Given the description of an element on the screen output the (x, y) to click on. 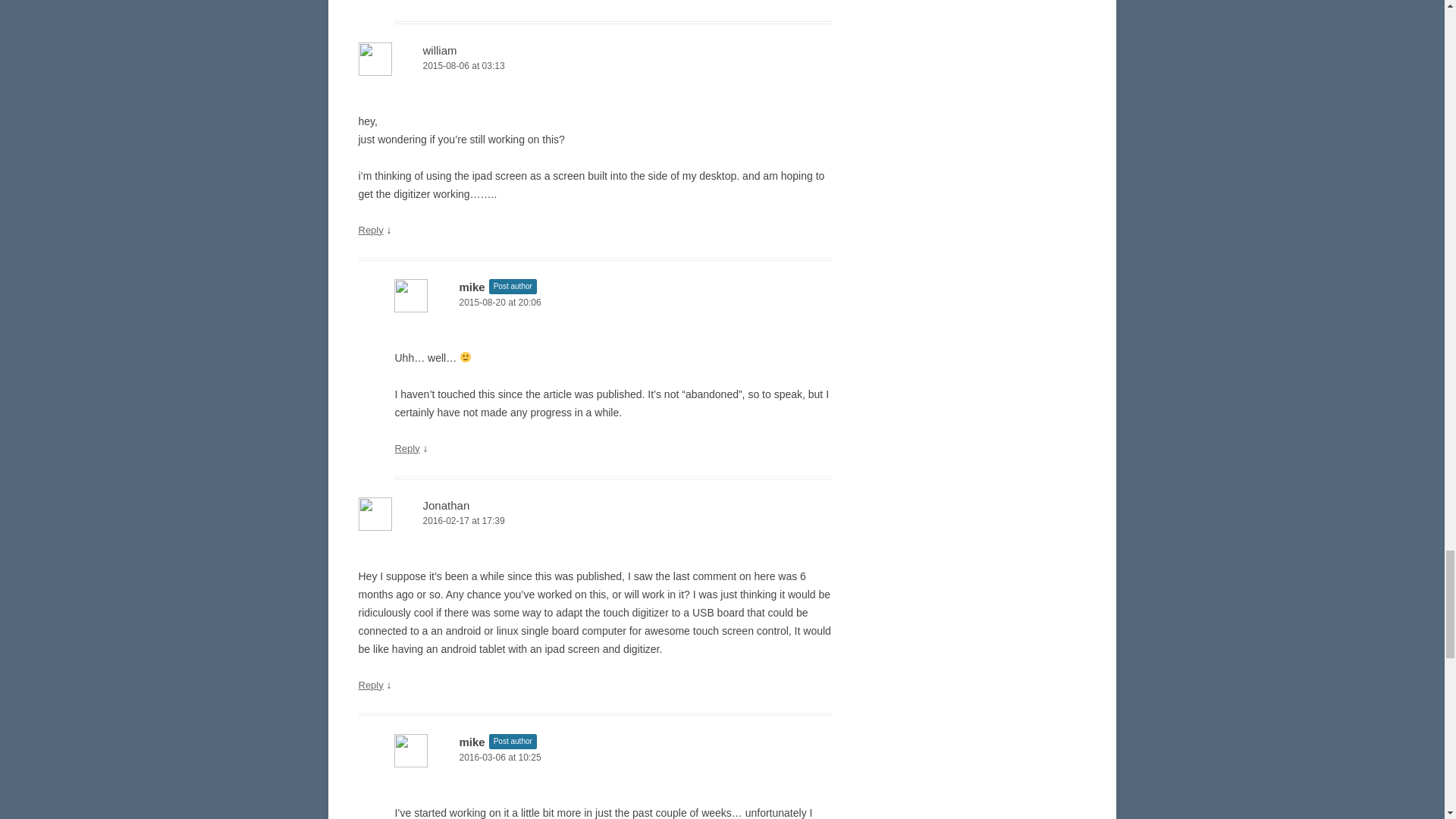
2016-02-17 at 17:39 (594, 521)
Reply (370, 229)
2015-08-20 at 20:06 (612, 302)
Reply (406, 448)
2015-08-06 at 03:13 (594, 66)
